Given the description of an element on the screen output the (x, y) to click on. 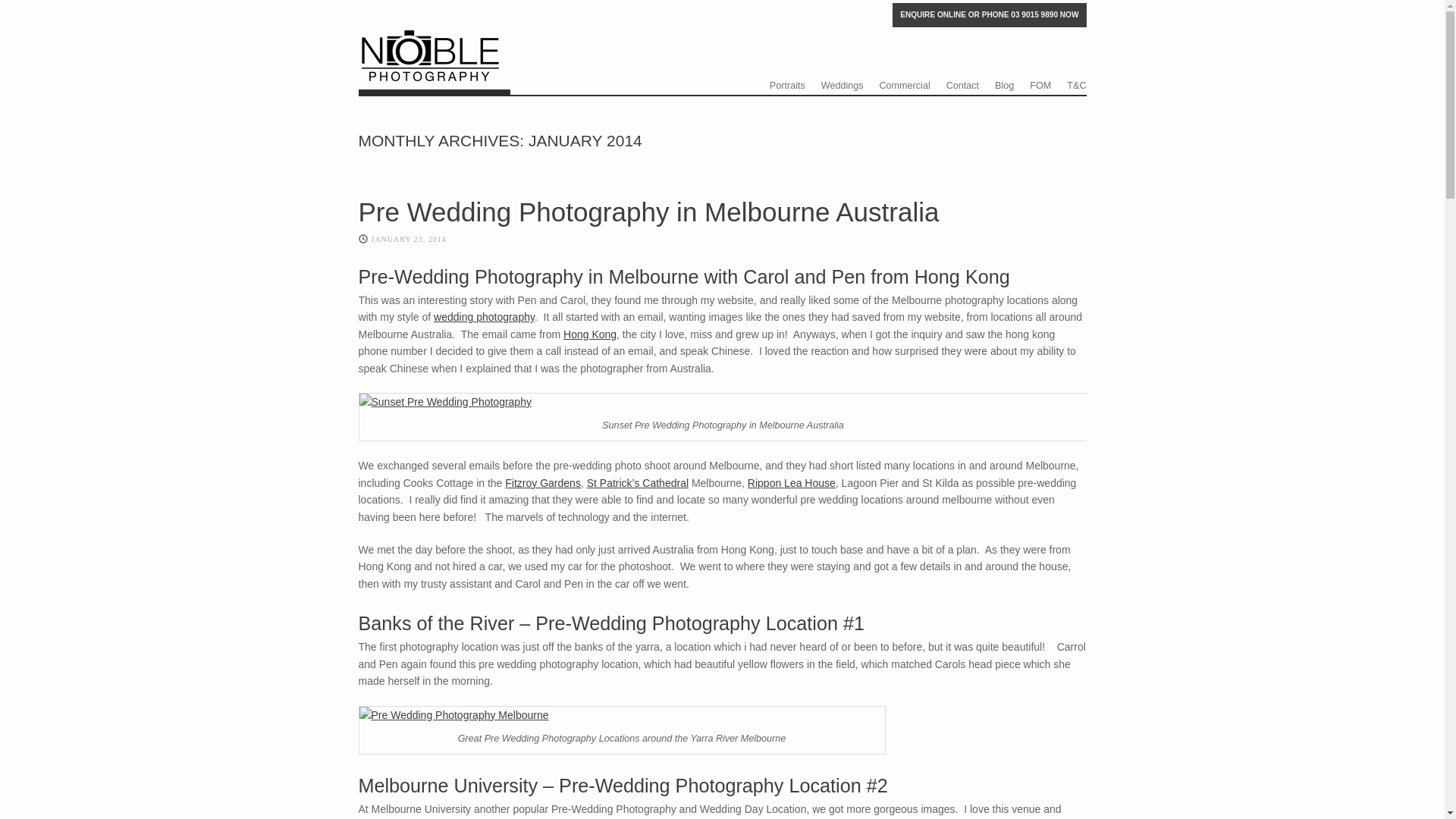
ENQUIRE ONLINE OR PHONE 03 9015 9890 NOW Element type: text (988, 15)
Pre Wedding Photography in Melbourne Australia Element type: text (647, 211)
wedding photography Element type: text (483, 316)
Skip to content Element type: text (784, 82)
FOM Element type: text (1040, 85)
pre-wedding-photography-melbourne-gardens Element type: hover (621, 714)
Portraits Element type: text (787, 85)
Blog Element type: text (1003, 85)
Contact Element type: text (962, 85)
pre-wedding-photography-melbourne Element type: hover (723, 401)
Fitzroy Gardens Element type: text (542, 482)
Search Element type: text (33, 17)
Hong Kong Element type: text (589, 334)
JANUARY 23, 2014 Element type: text (408, 239)
Noble Photography Element type: hover (433, 67)
Commercial Element type: text (904, 85)
T&C Element type: text (1075, 85)
Weddings Element type: text (842, 85)
Rippon Lea House Element type: text (791, 482)
